Given the description of an element on the screen output the (x, y) to click on. 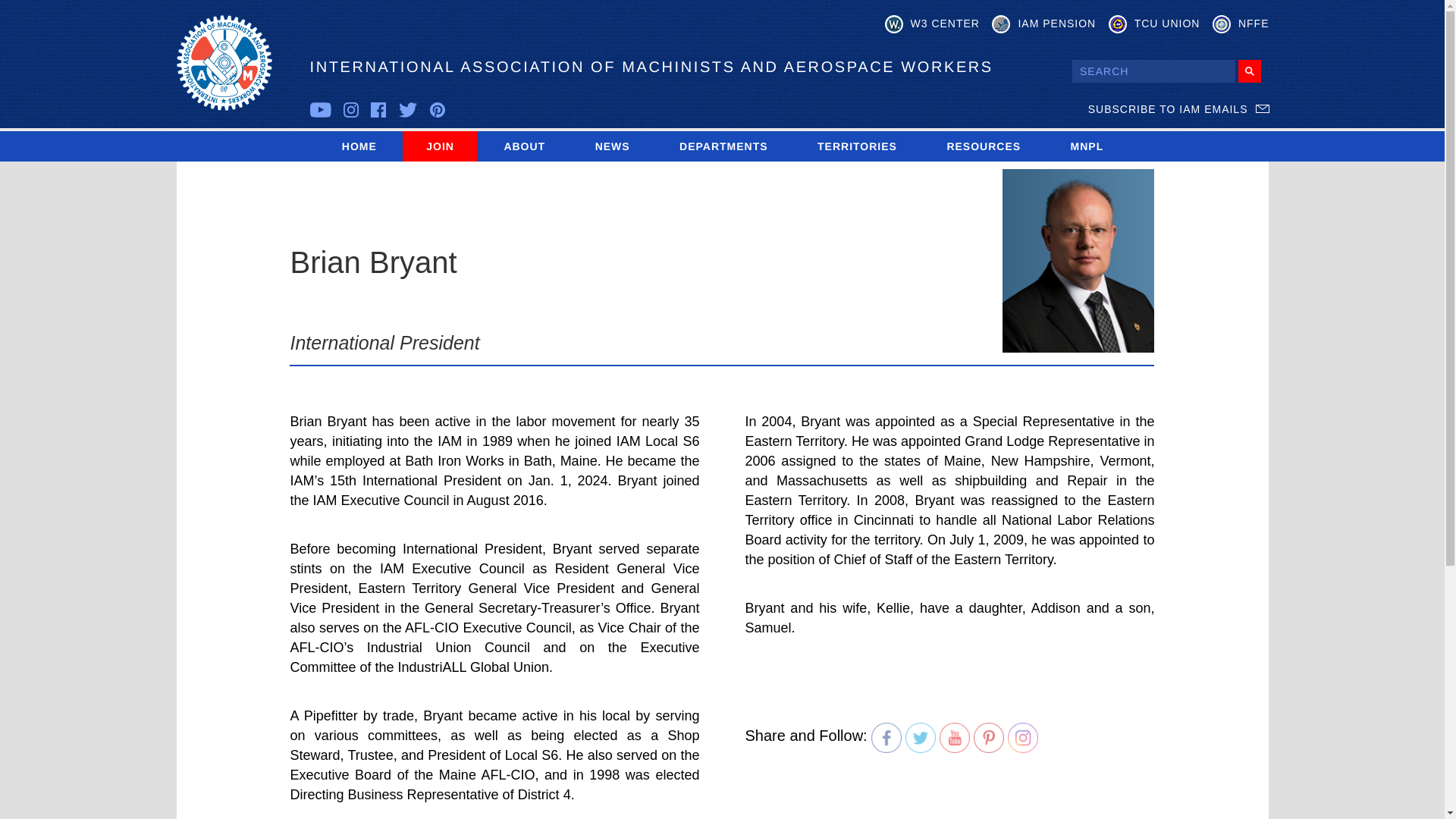
JOIN (440, 146)
IAM PENSION (1043, 24)
DEPARTMENTS (723, 146)
HOME (358, 146)
Twitter (920, 737)
SUBSCRIBE TO IAM EMAILS (1178, 108)
RESOURCES (983, 146)
NEWS (612, 146)
YouTube (954, 737)
W3 CENTER (932, 24)
